Given the description of an element on the screen output the (x, y) to click on. 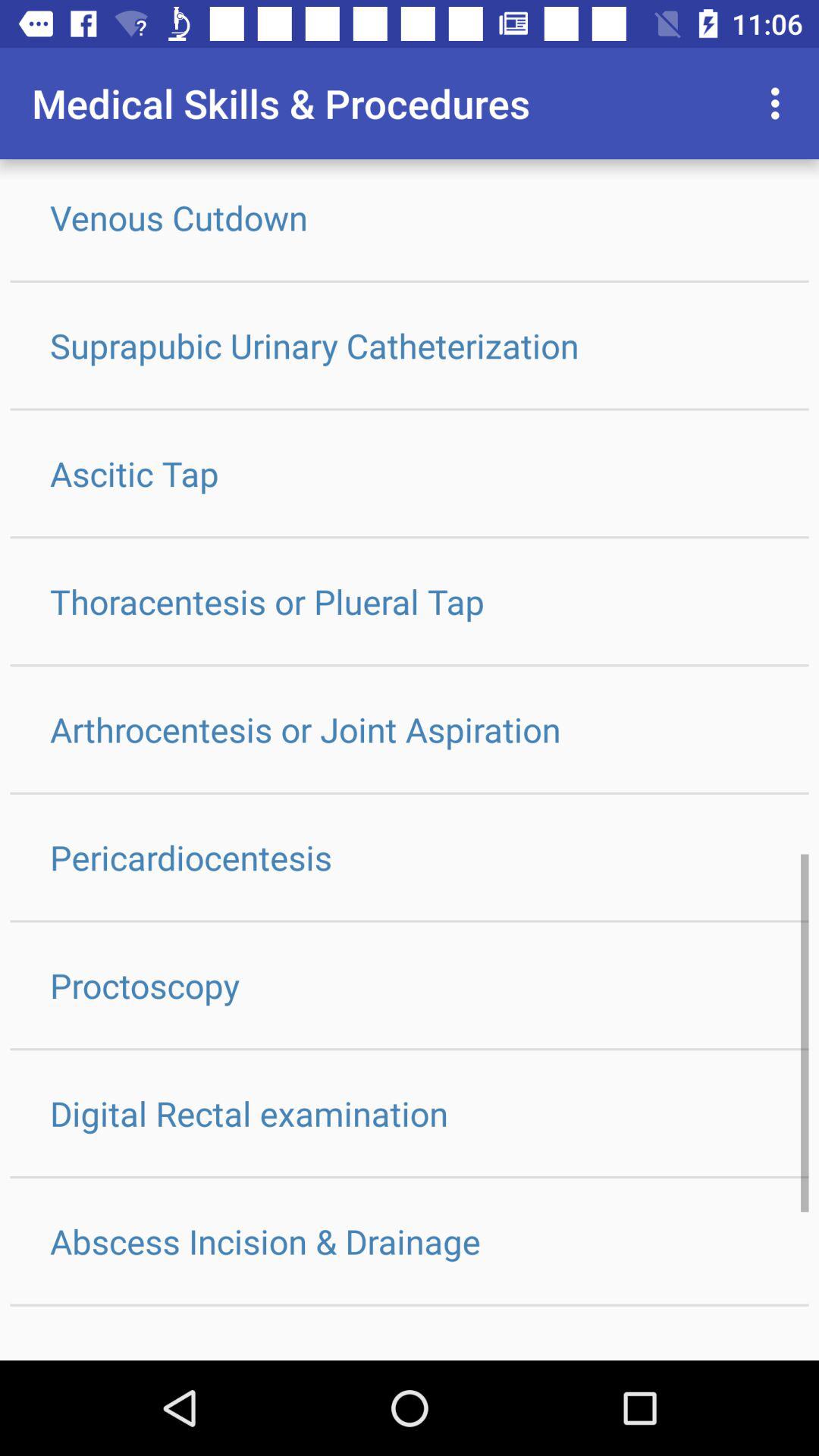
select the 3 dots icon on the top ryt (779, 103)
